Given the description of an element on the screen output the (x, y) to click on. 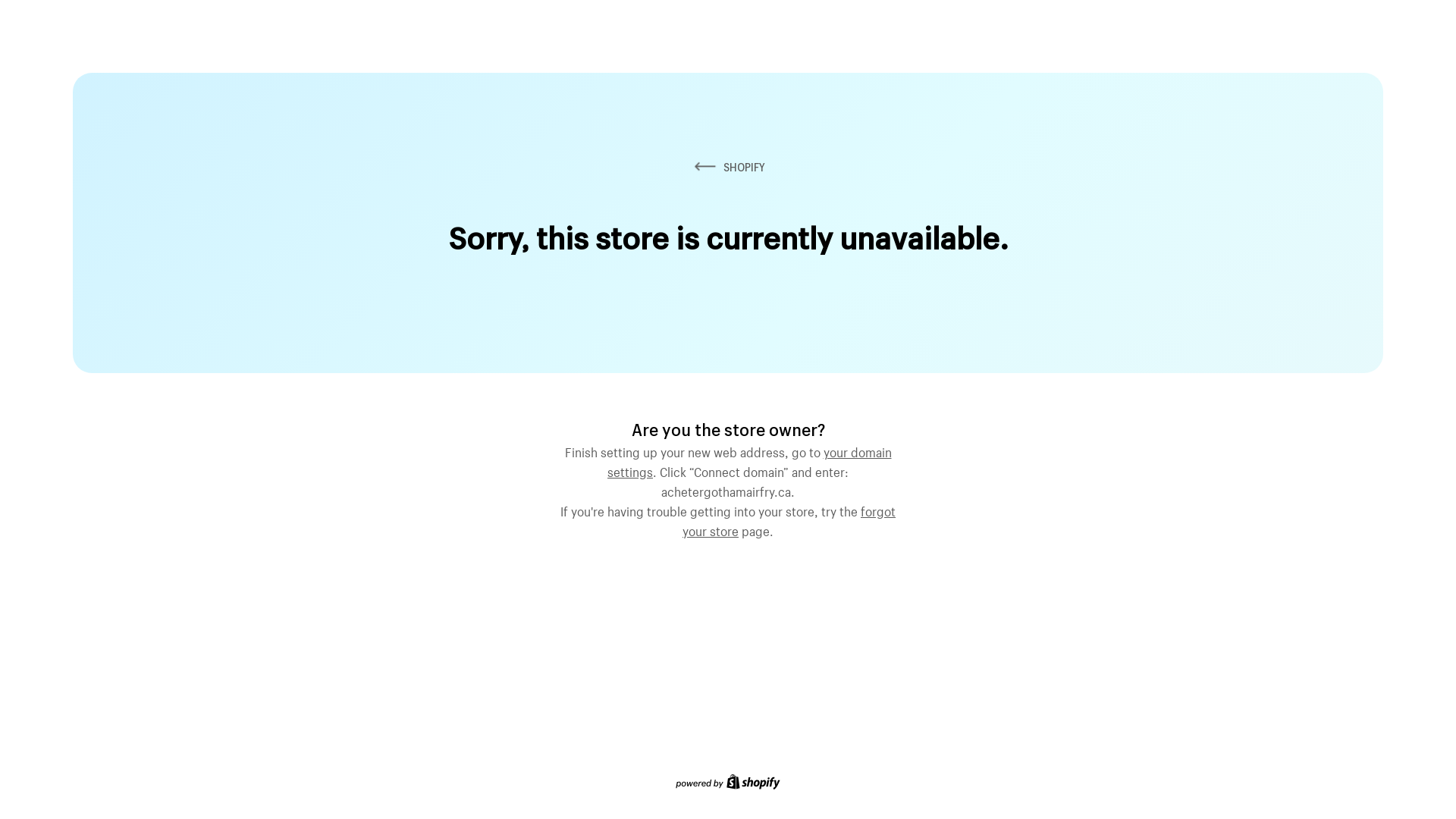
your domain settings Element type: text (749, 460)
forgot your store Element type: text (788, 519)
SHOPIFY Element type: text (727, 167)
